Given the description of an element on the screen output the (x, y) to click on. 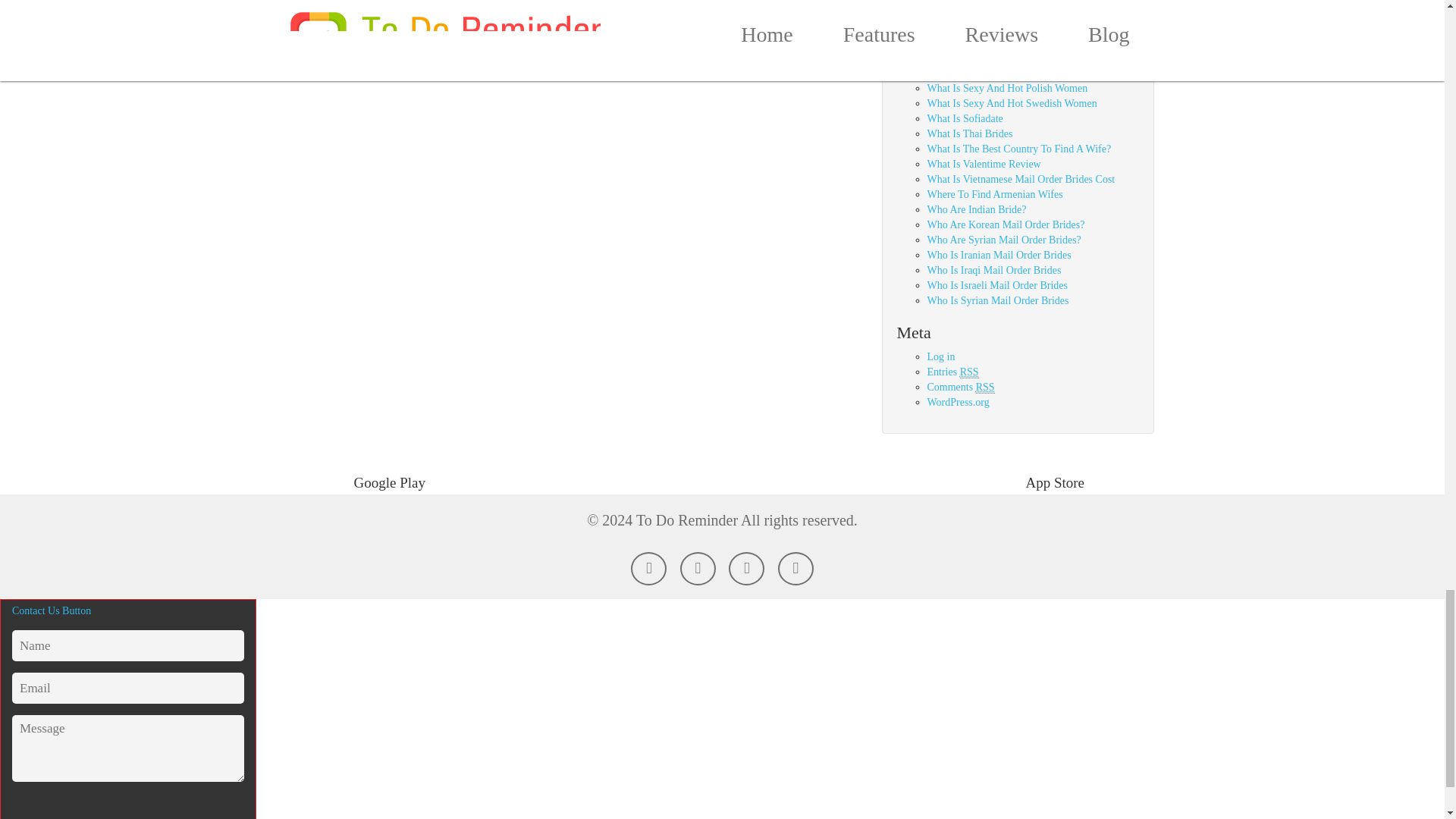
Really Simple Syndication (968, 372)
Really Simple Syndication (984, 387)
